Given the description of an element on the screen output the (x, y) to click on. 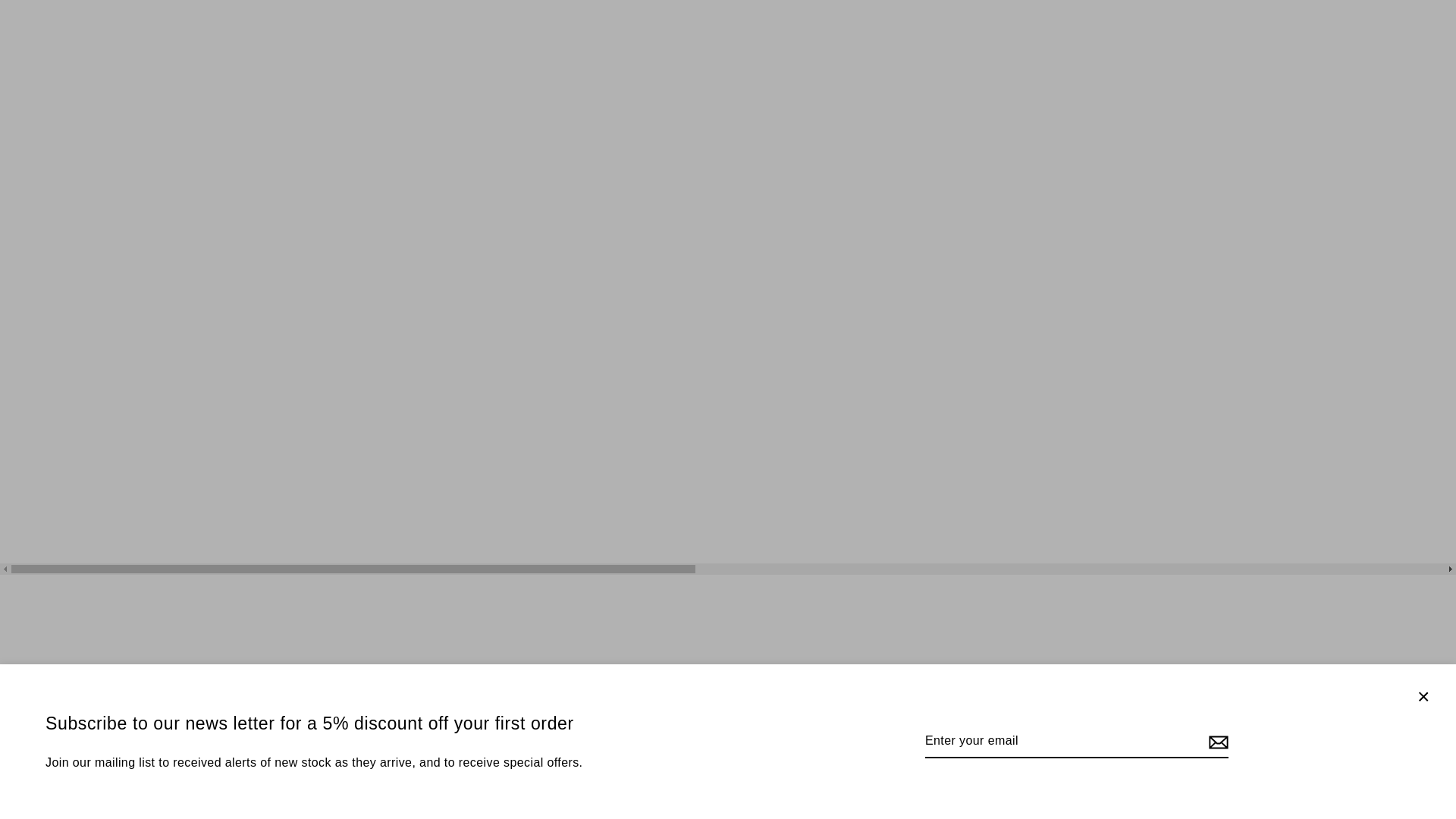
Shop Pay (832, 776)
Apple Pay (587, 776)
Discover (657, 776)
American Express (552, 776)
Google Pay (692, 776)
Diners Club (622, 776)
Union Pay (867, 776)
Visa (902, 776)
Maestro (727, 776)
PayPal (797, 776)
Mastercard (762, 776)
